Given the description of an element on the screen output the (x, y) to click on. 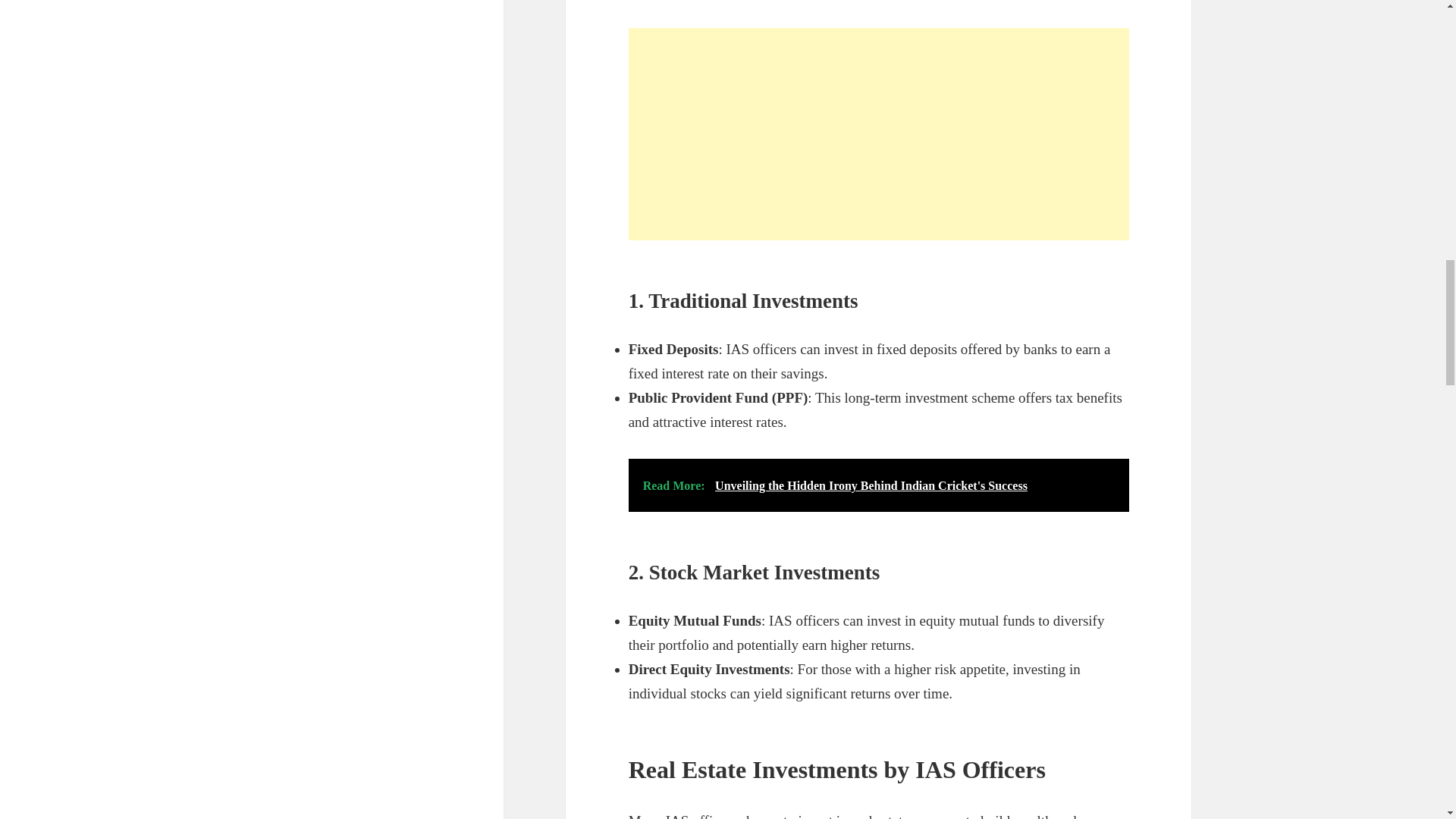
Advertisement (878, 133)
